Given the description of an element on the screen output the (x, y) to click on. 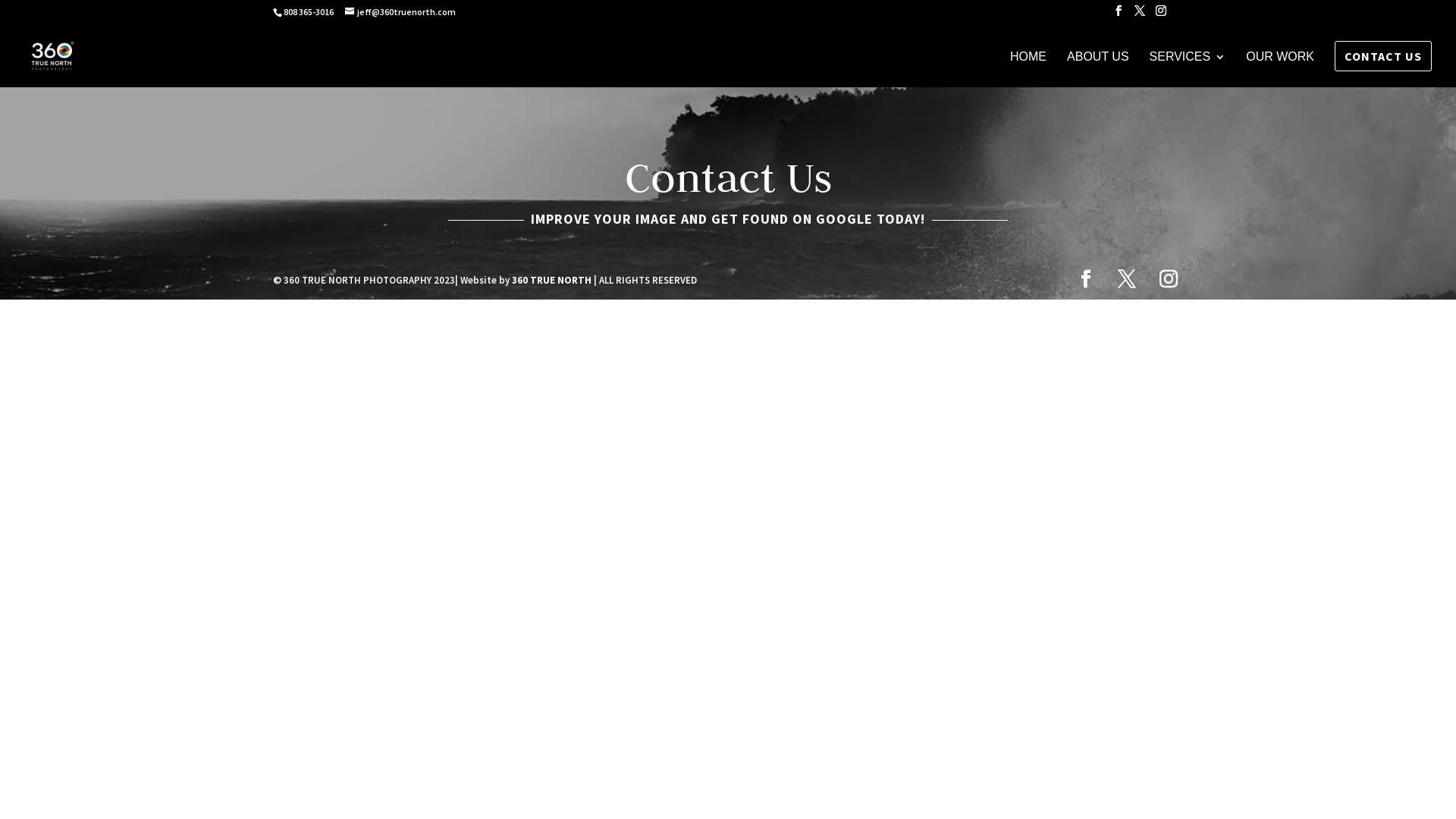
808 365-3016 Element type: text (308, 11)
jeff@360truenorth.com Element type: text (400, 11)
SERVICES Element type: text (1187, 69)
ABOUT US Element type: text (1097, 69)
CONTACT US Element type: text (1382, 55)
OUR WORK Element type: text (1279, 69)
HOME Element type: text (1028, 69)
360 TRUE NORTH Element type: text (551, 279)
